Given the description of an element on the screen output the (x, y) to click on. 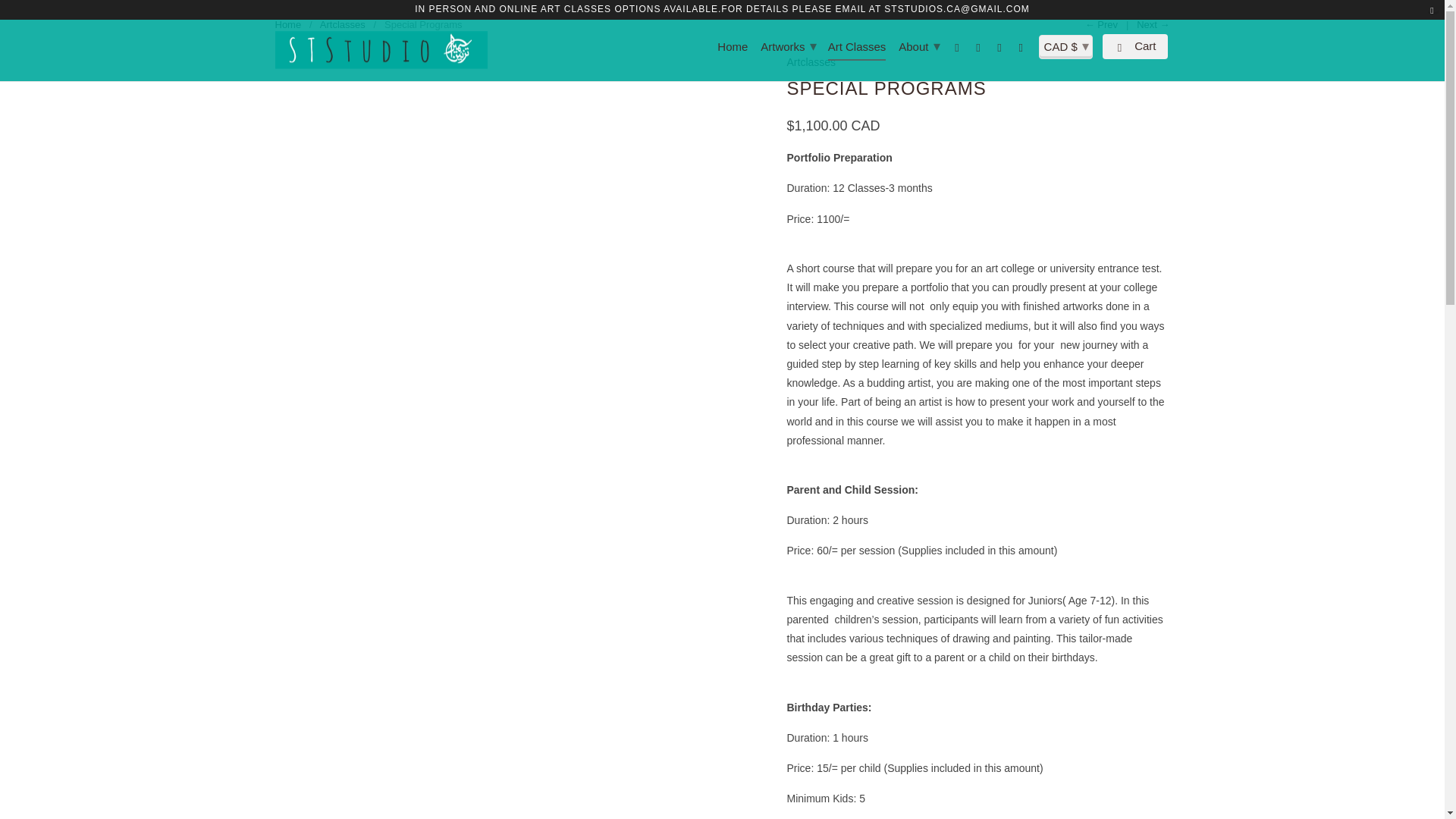
Special Programs (523, 62)
sumaira tazeen (288, 24)
sumaira tazeen (380, 50)
Artclasses (342, 24)
